Given the description of an element on the screen output the (x, y) to click on. 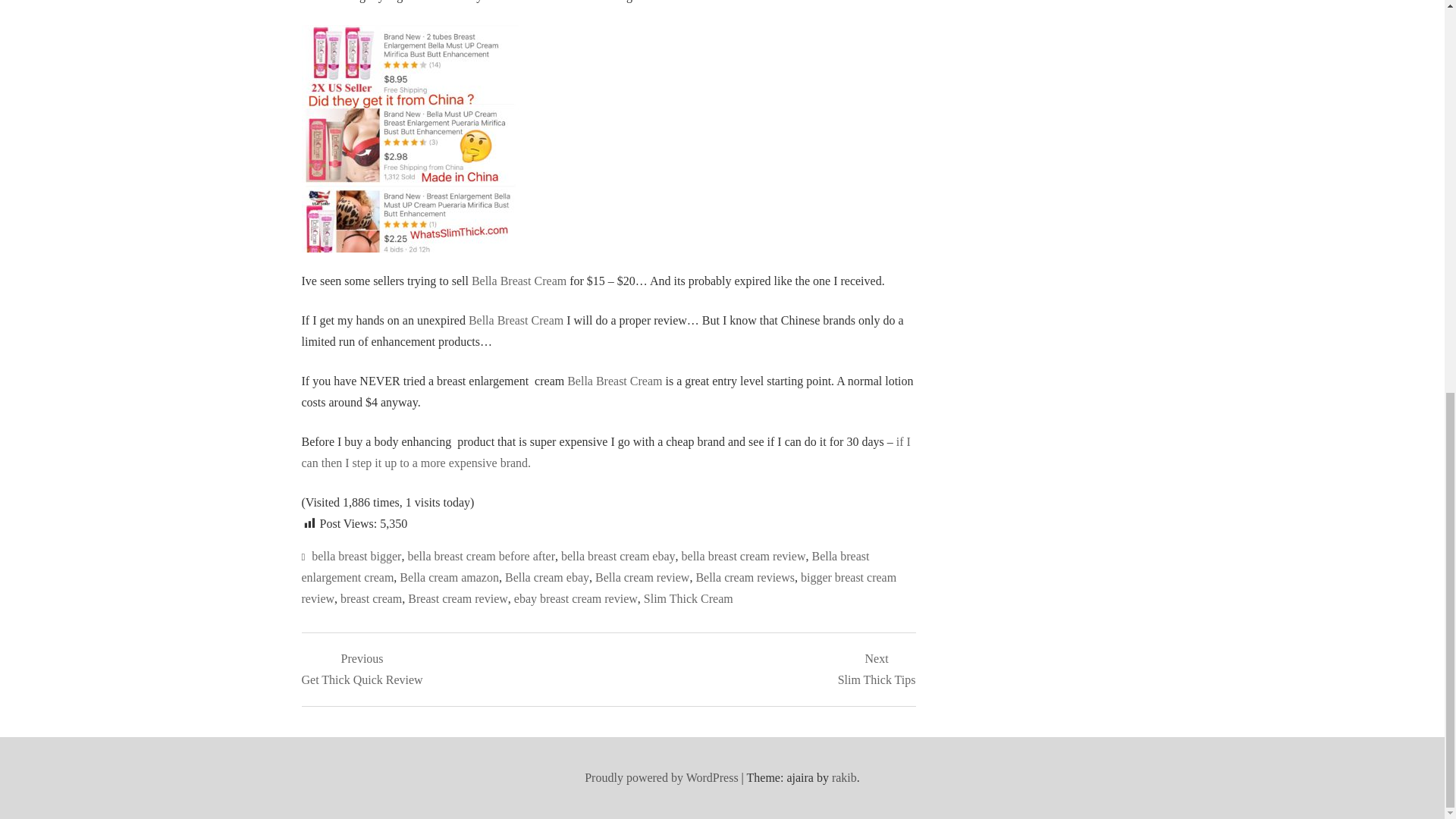
Bella Breast Cream (614, 380)
bella breast bigger (356, 555)
Bella Breast Cream (518, 280)
Bella Breast Cream (515, 319)
if I can then I step it up to a more expensive brand. (606, 451)
bella breast cream before after (480, 555)
